Given the description of an element on the screen output the (x, y) to click on. 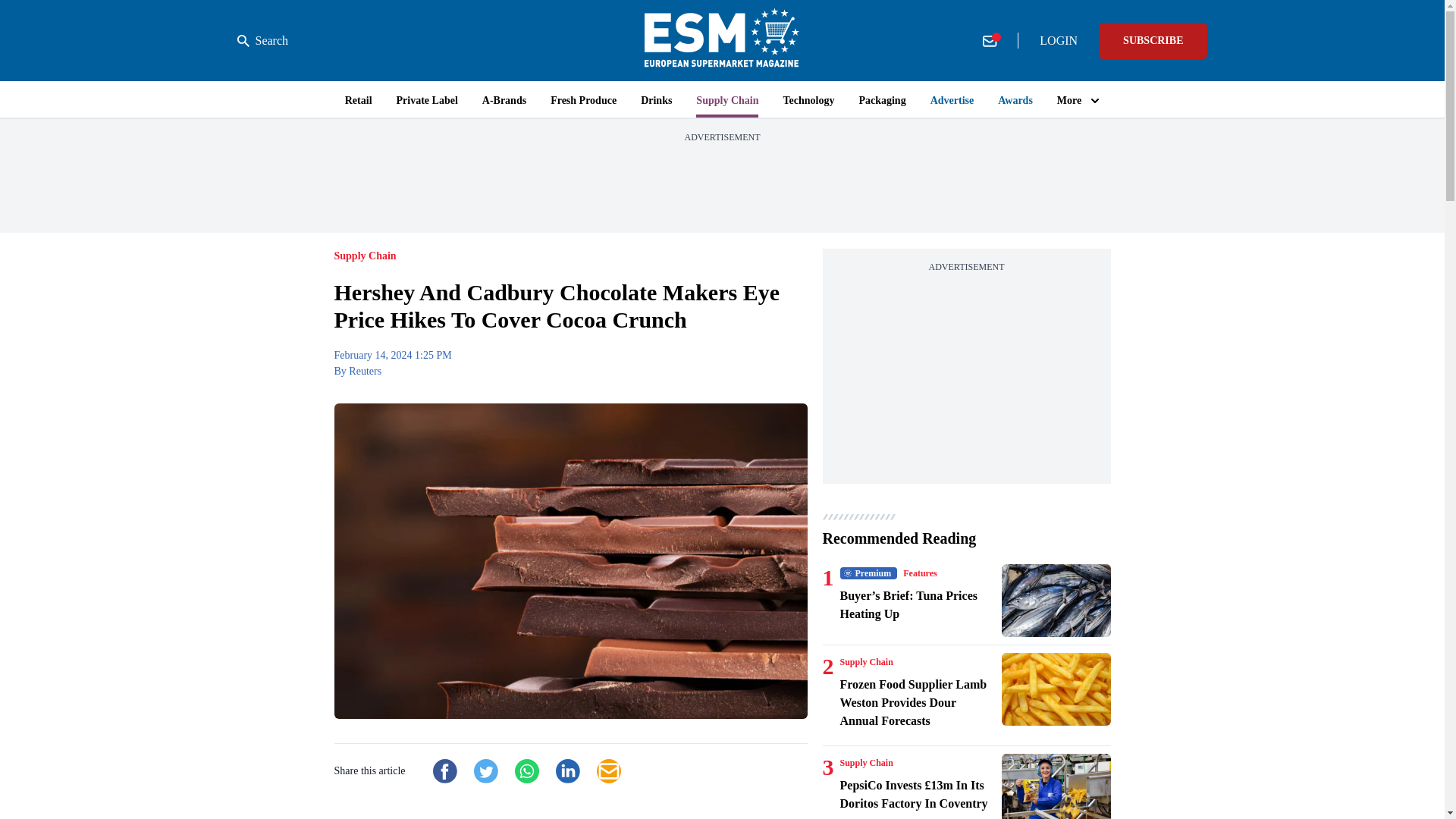
Features (919, 573)
Supply Chain (866, 762)
Supply Chain (866, 662)
Search (261, 40)
ESM (722, 40)
